Given the description of an element on the screen output the (x, y) to click on. 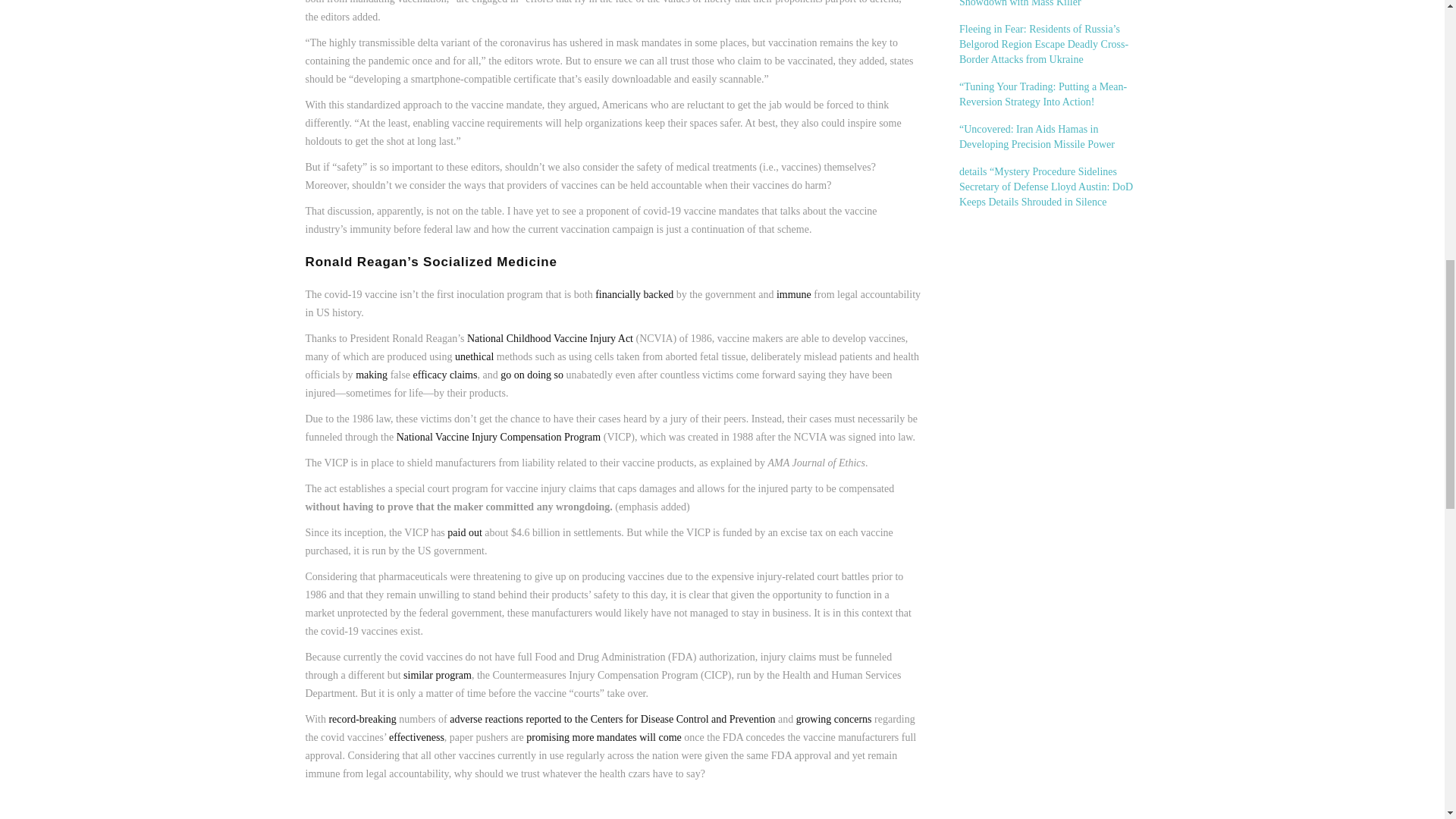
record-breaking (362, 718)
effectiveness (416, 737)
similar program (437, 674)
making (371, 374)
backed (658, 294)
National Childhood Vaccine Injury Act (550, 337)
paid out (463, 532)
growing concerns (834, 718)
unethical (473, 356)
